Given the description of an element on the screen output the (x, y) to click on. 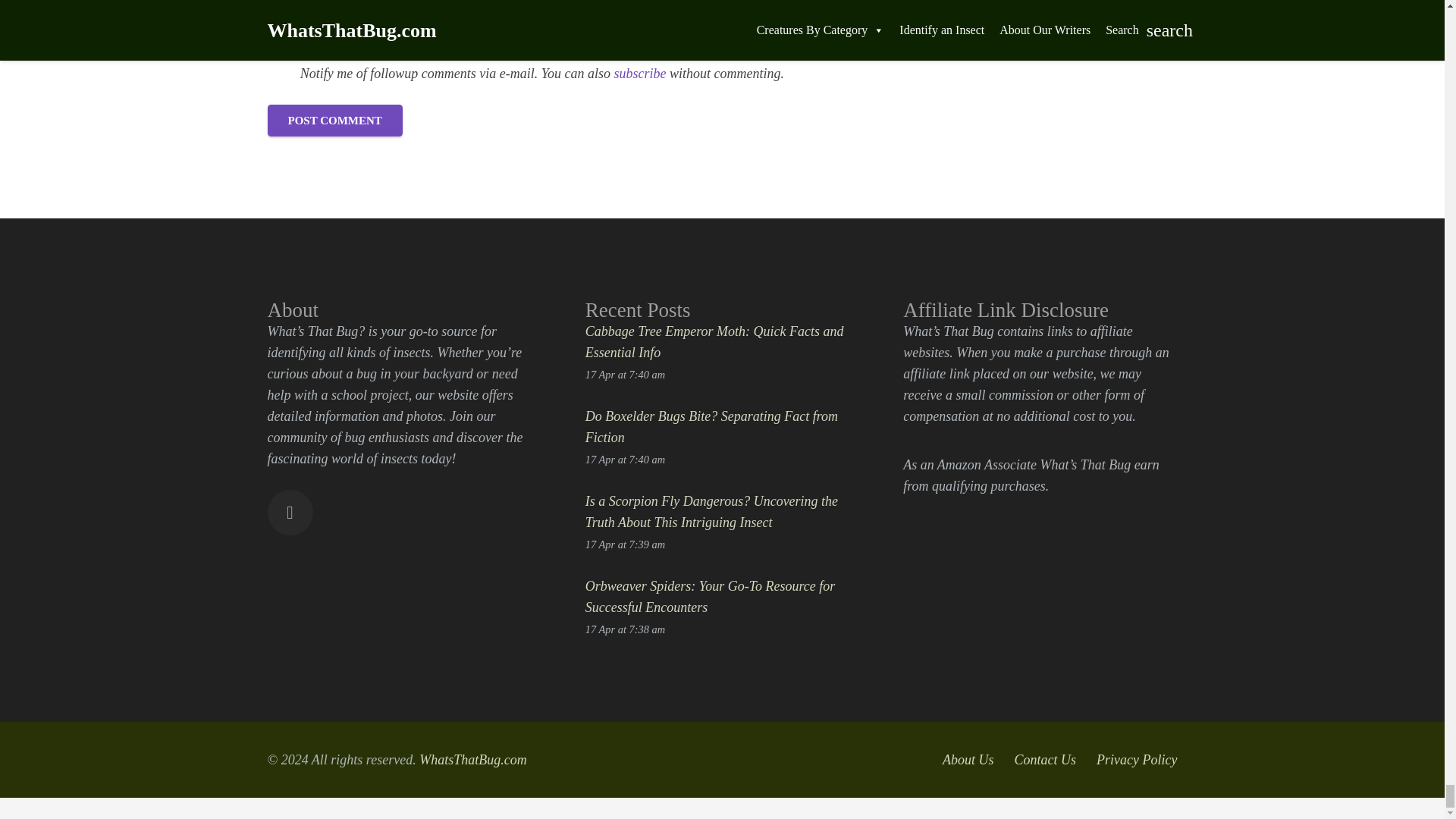
1 (274, 37)
yes (278, 72)
